Given the description of an element on the screen output the (x, y) to click on. 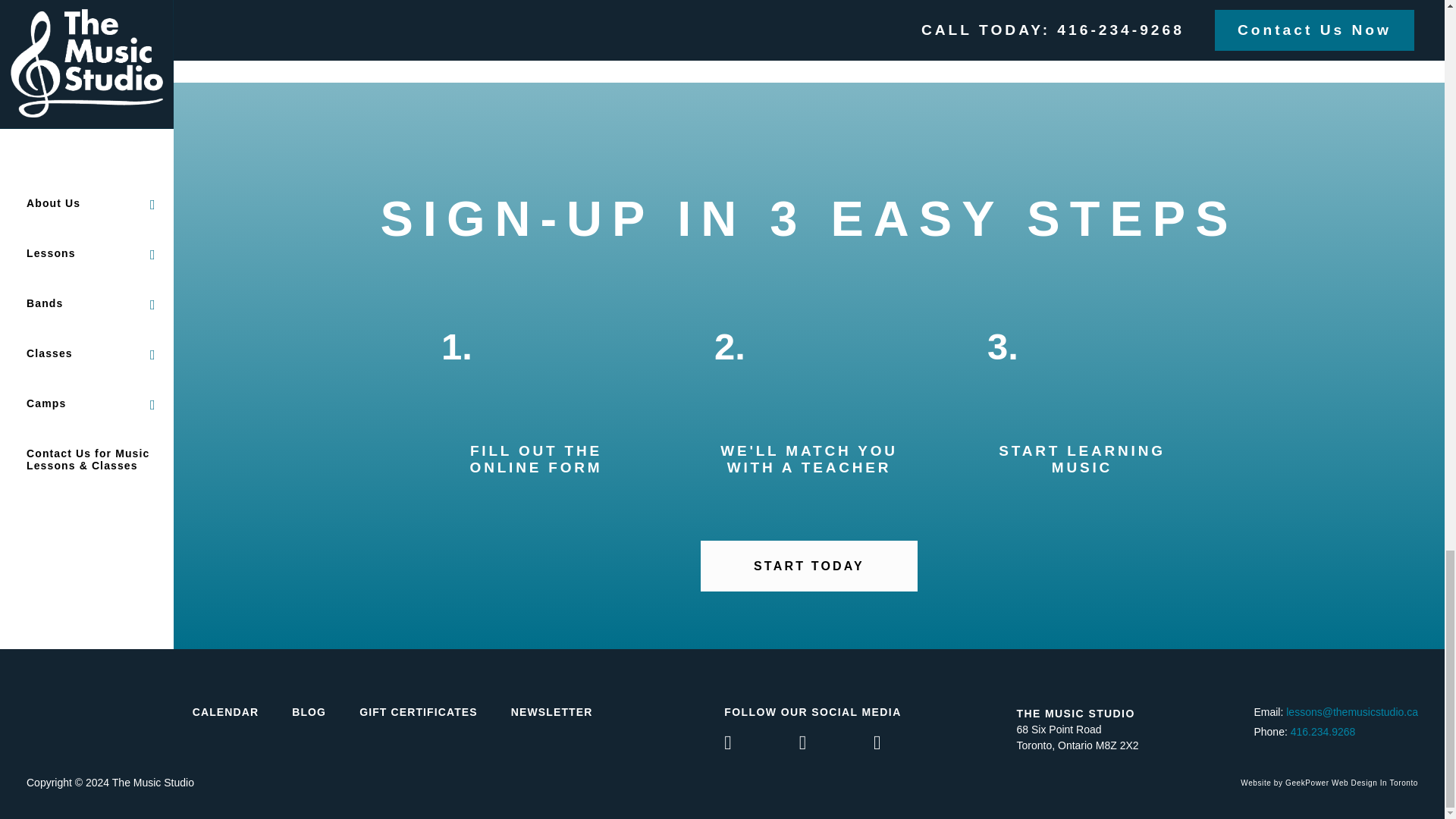
Facebook (759, 745)
Youtube (834, 745)
Email Us (1351, 711)
